Given the description of an element on the screen output the (x, y) to click on. 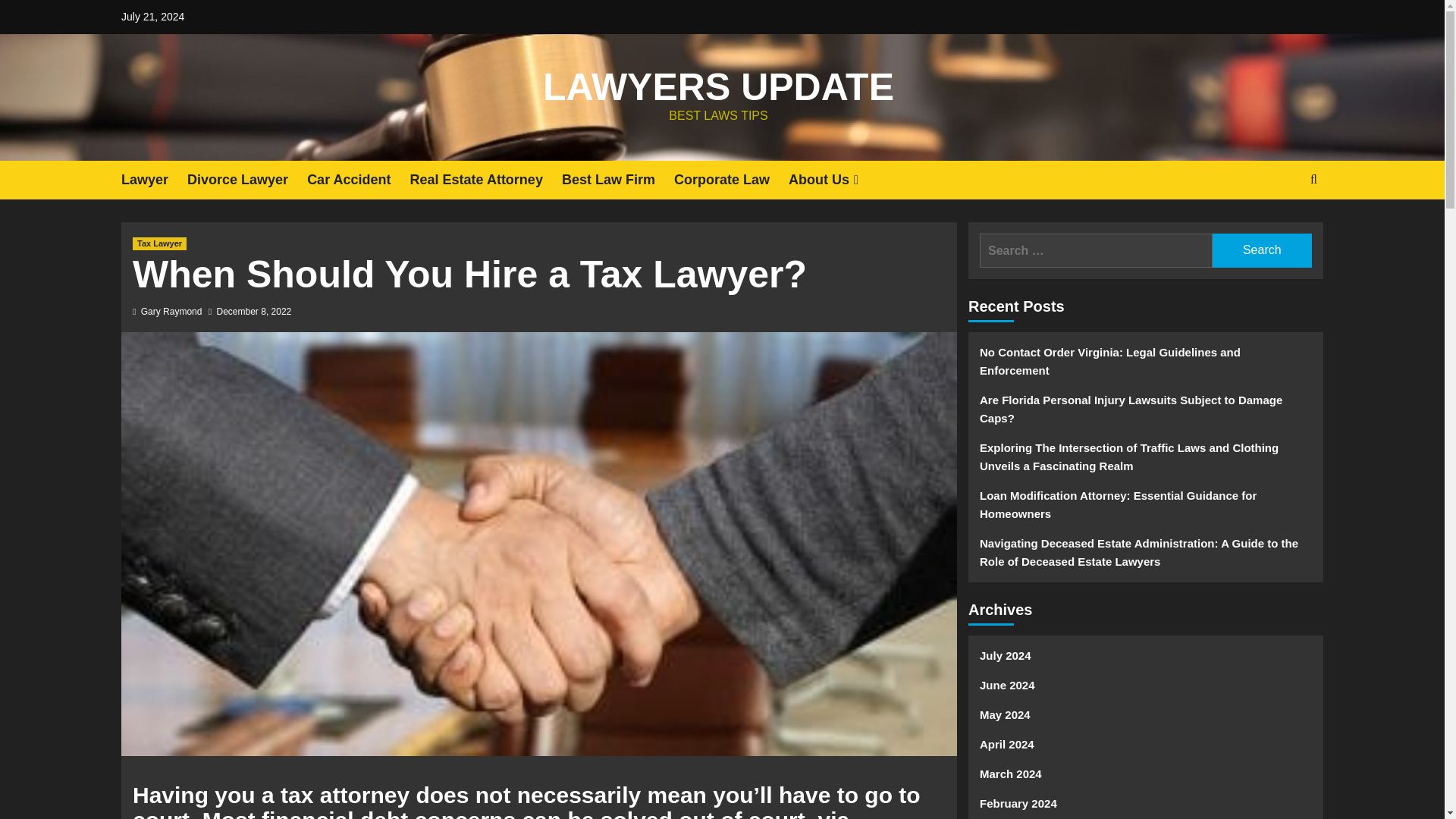
Real Estate Attorney (484, 179)
Lawyer (153, 179)
LAWYERS UPDATE (718, 87)
Search (1261, 250)
Gary Raymond (171, 311)
Best Law Firm (618, 179)
Car Accident (358, 179)
December 8, 2022 (254, 311)
Divorce Lawyer (247, 179)
Corporate Law (731, 179)
Search (1261, 250)
About Us (835, 179)
Tax Lawyer (159, 243)
Search (1278, 226)
